Given the description of an element on the screen output the (x, y) to click on. 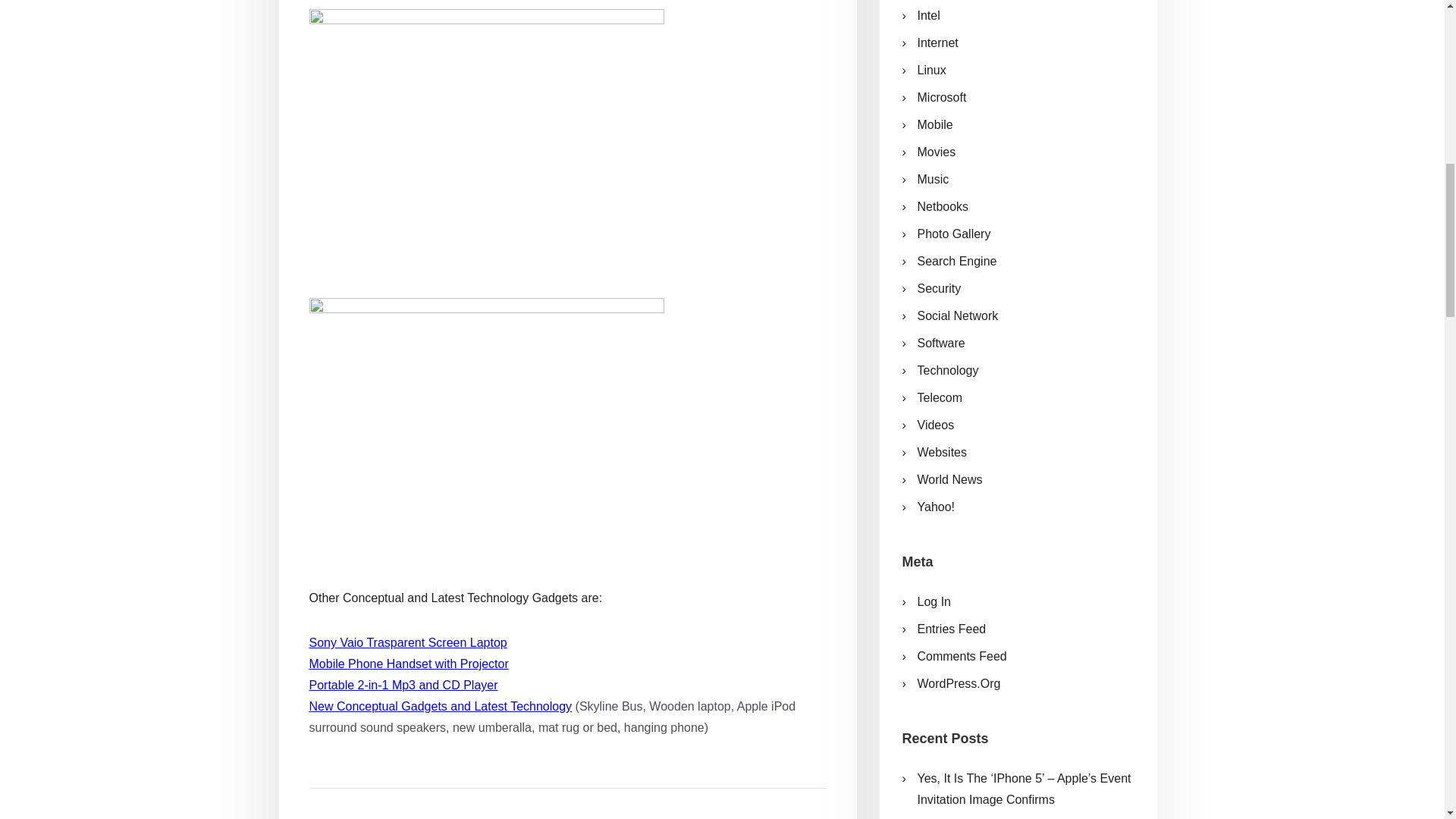
Mobile Phone Handset with Projector (408, 663)
New Conceptual Gadgets and Latest Technology (440, 706)
Double Touch Screen Slider Mobile Phone Handset (485, 142)
Double Touch Screen Slider Mobile Phone Handset (485, 431)
Portable 2-in-1 Mp3 and CD Player (402, 685)
Sony Vaio Trasparent Screen Laptop (407, 642)
